Given the description of an element on the screen output the (x, y) to click on. 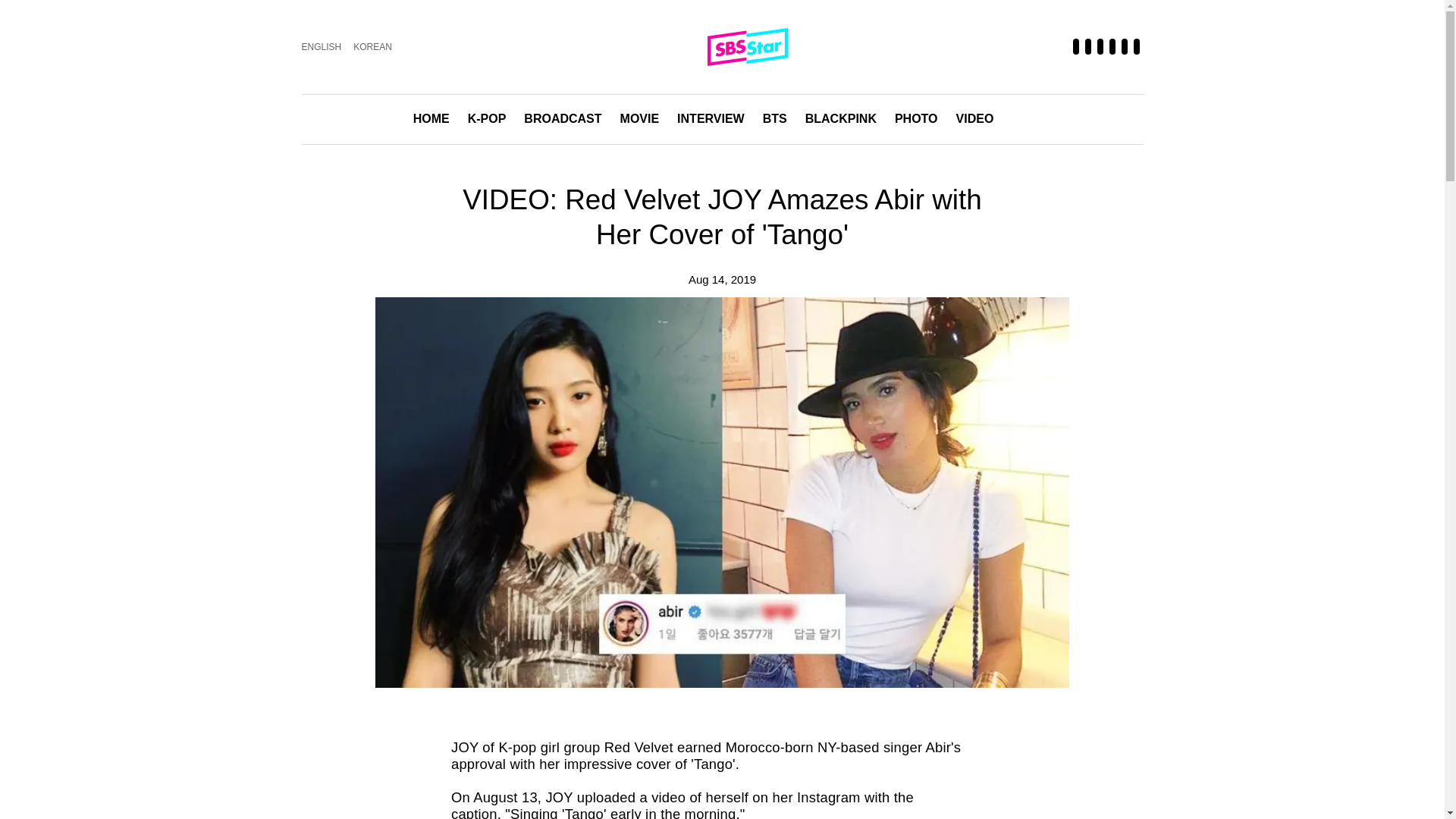
BLACKPINK (840, 119)
INTERVIEW (710, 119)
KOREAN (372, 46)
ENGLISH (321, 46)
BROADCAST (562, 119)
